Given the description of an element on the screen output the (x, y) to click on. 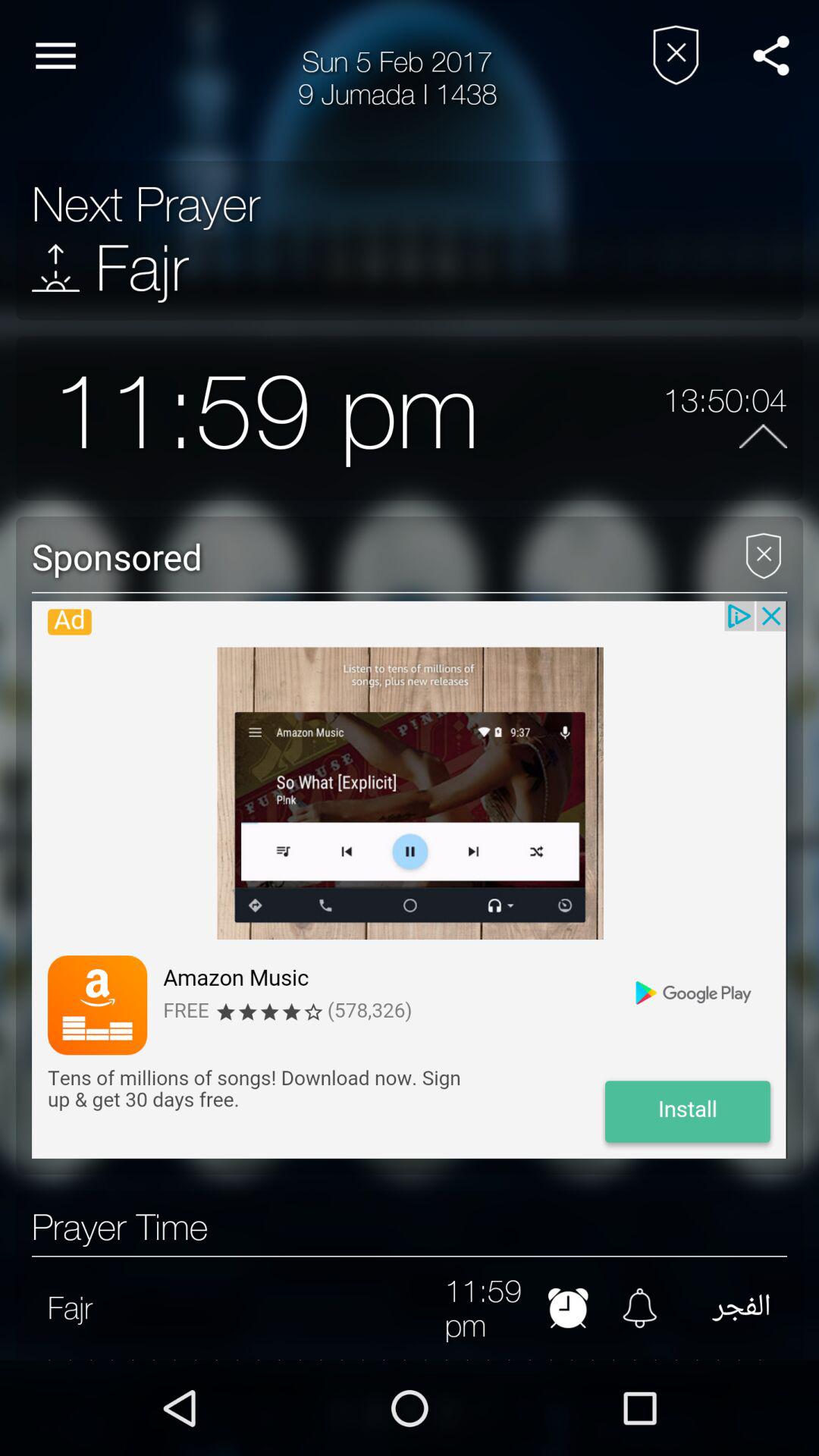
click item below the 11:59 pm icon (409, 1359)
